Given the description of an element on the screen output the (x, y) to click on. 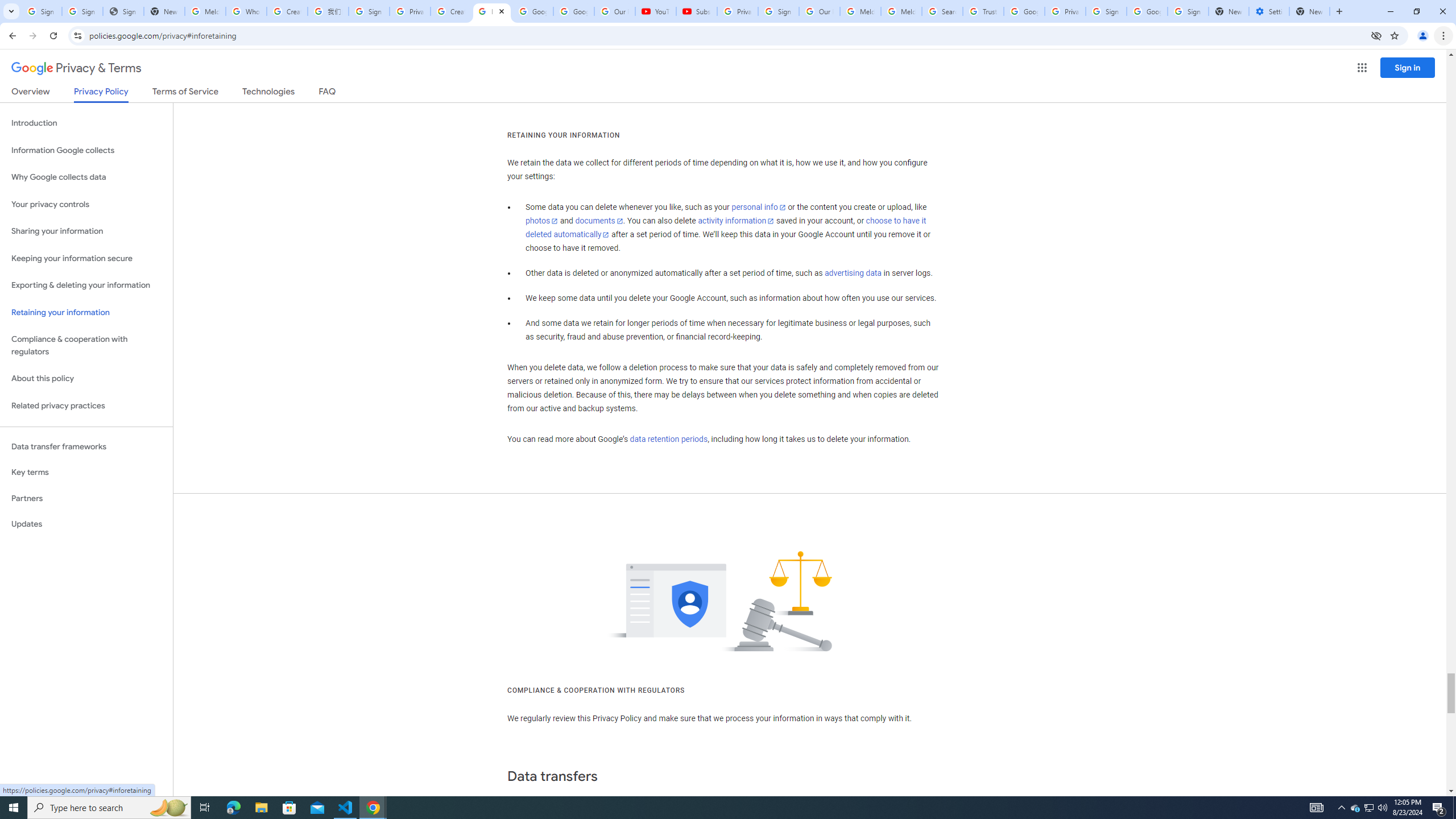
Settings - Addresses and more (1268, 11)
Sign in - Google Accounts (1187, 11)
Your privacy controls (86, 204)
Key terms (86, 472)
Exporting & deleting your information (86, 284)
Who is my administrator? - Google Account Help (246, 11)
Google Ads - Sign in (1023, 11)
Technologies (268, 93)
